Given the description of an element on the screen output the (x, y) to click on. 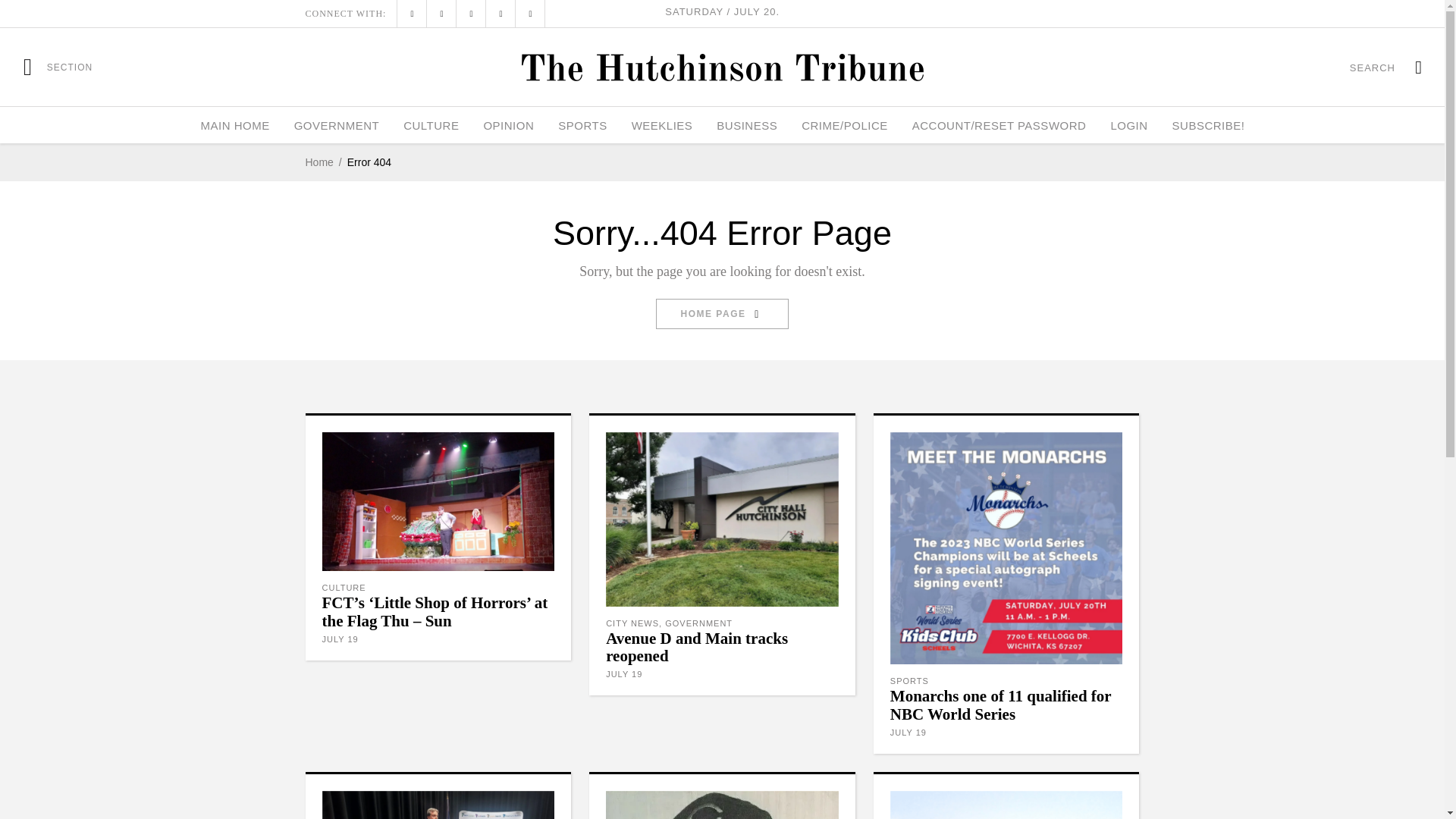
CULTURE (430, 125)
MAIN HOME (234, 125)
OPINION (508, 125)
SPORTS (582, 125)
BUSINESS (746, 125)
SECTION (58, 67)
WEEKLIES (662, 125)
SUBSCRIBE! (1208, 125)
LOGIN (1127, 125)
GOVERNMENT (336, 125)
